Given the description of an element on the screen output the (x, y) to click on. 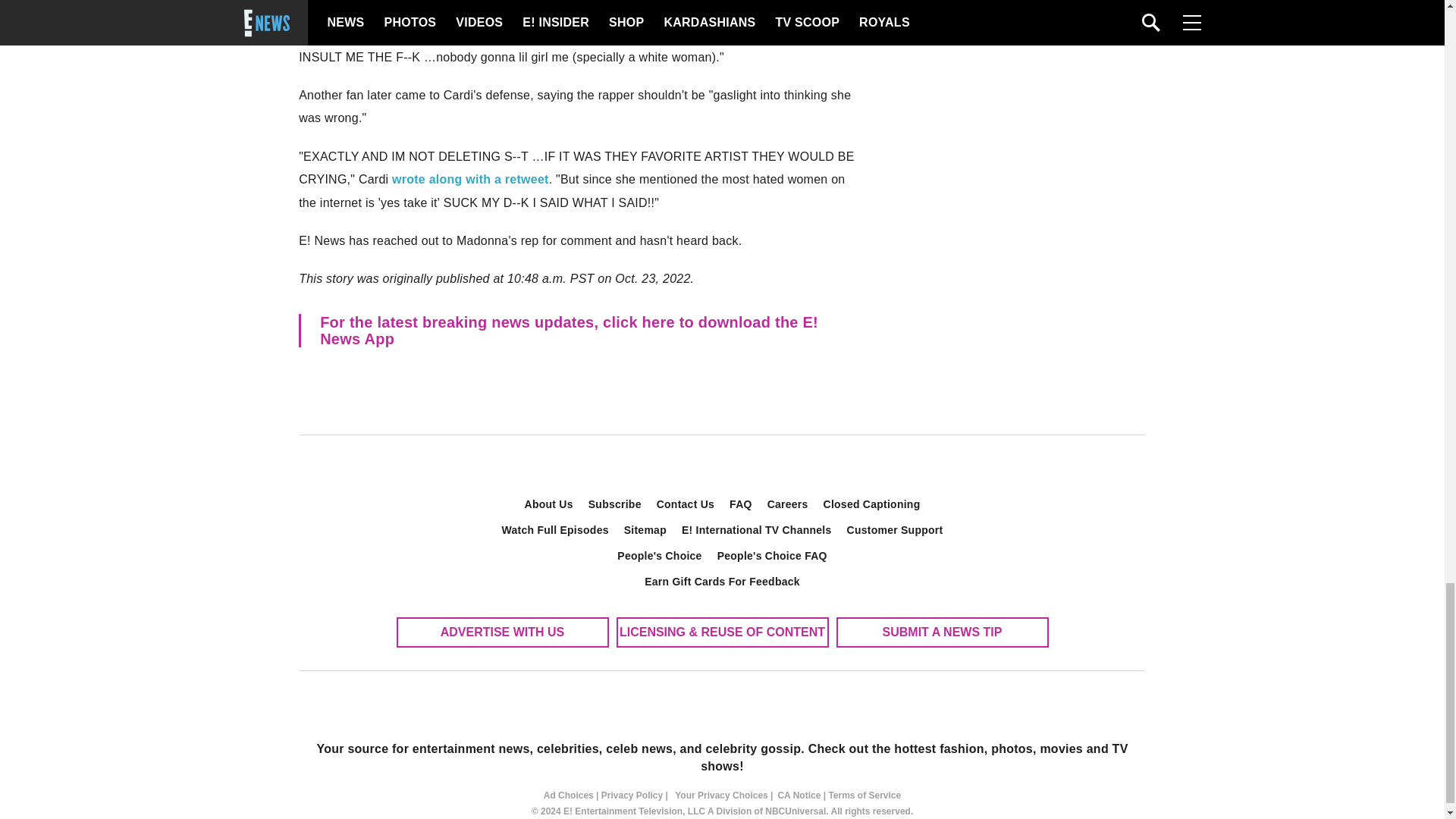
wrote along with a retweet (469, 178)
replied with tweet (478, 33)
